Given the description of an element on the screen output the (x, y) to click on. 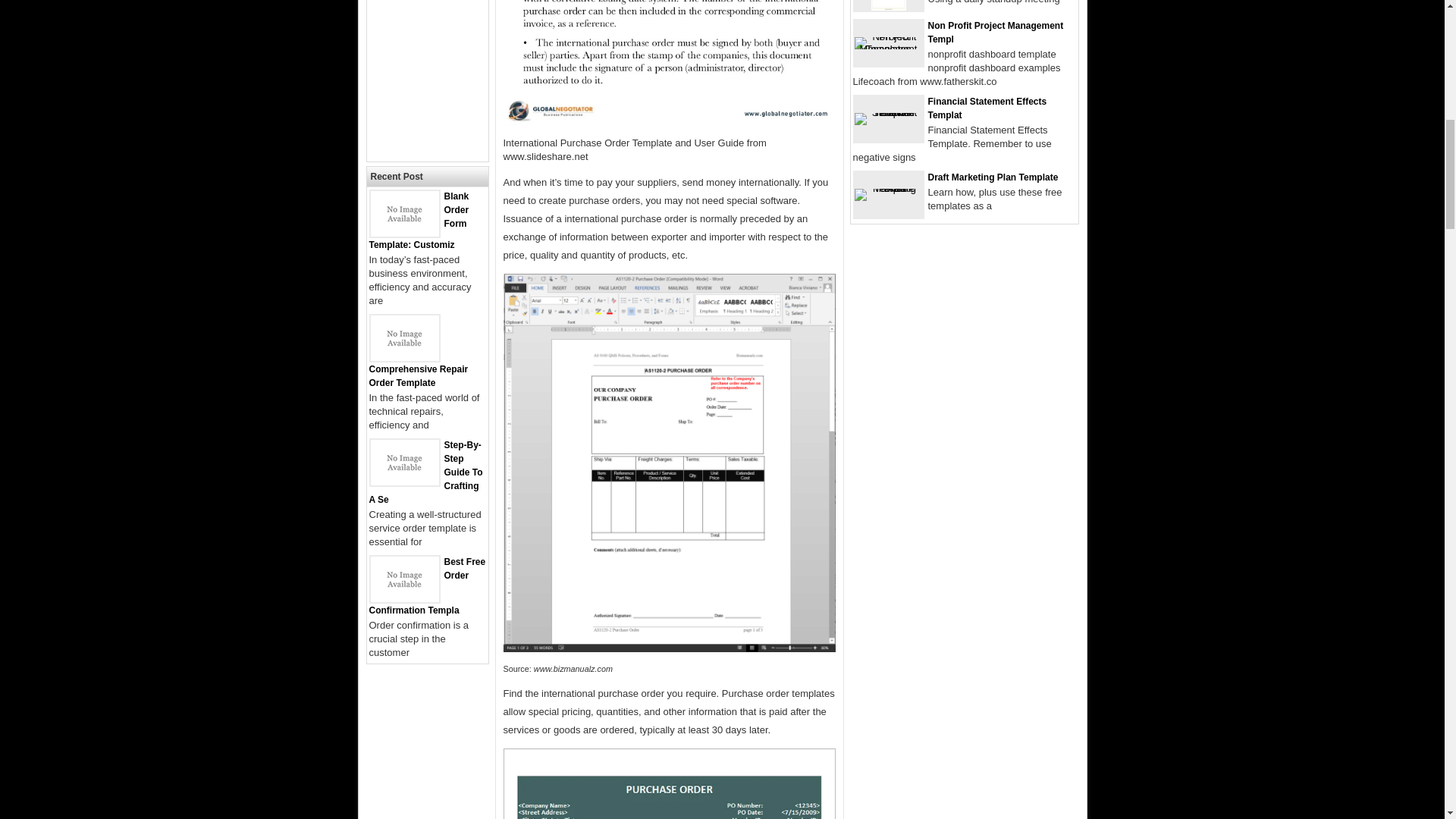
Blank Order Form Template: Customiz (418, 220)
Comprehensive Repair Order Template (417, 375)
Step-By-Step Guide To Crafting A Se (424, 472)
Blank Order Form Template: Customizable and Easy to Use (403, 233)
